Given the description of an element on the screen output the (x, y) to click on. 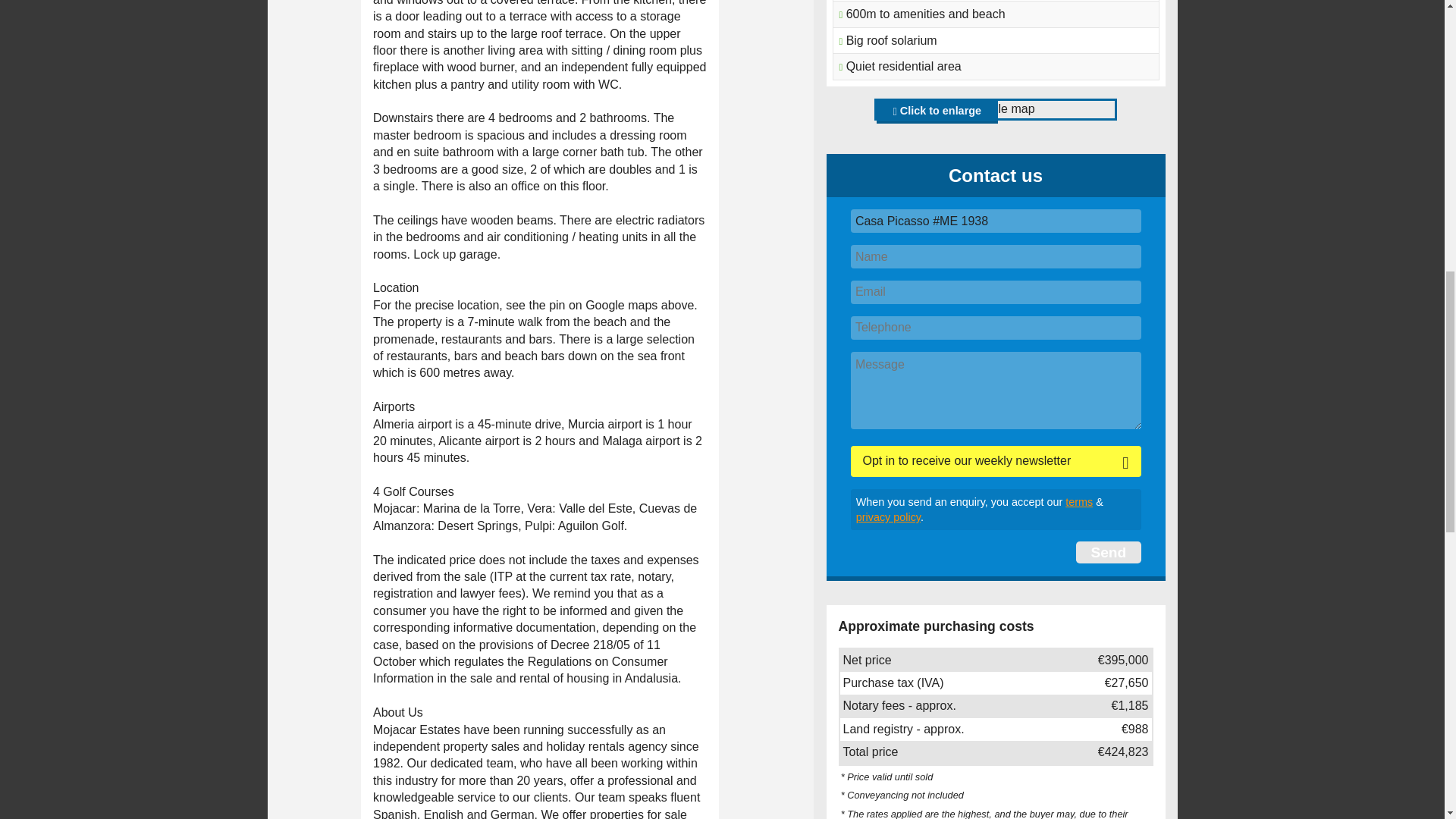
terms (1079, 501)
privacy policy (888, 517)
Send (1107, 552)
Click to enlarge (936, 111)
Send (1107, 552)
